Given the description of an element on the screen output the (x, y) to click on. 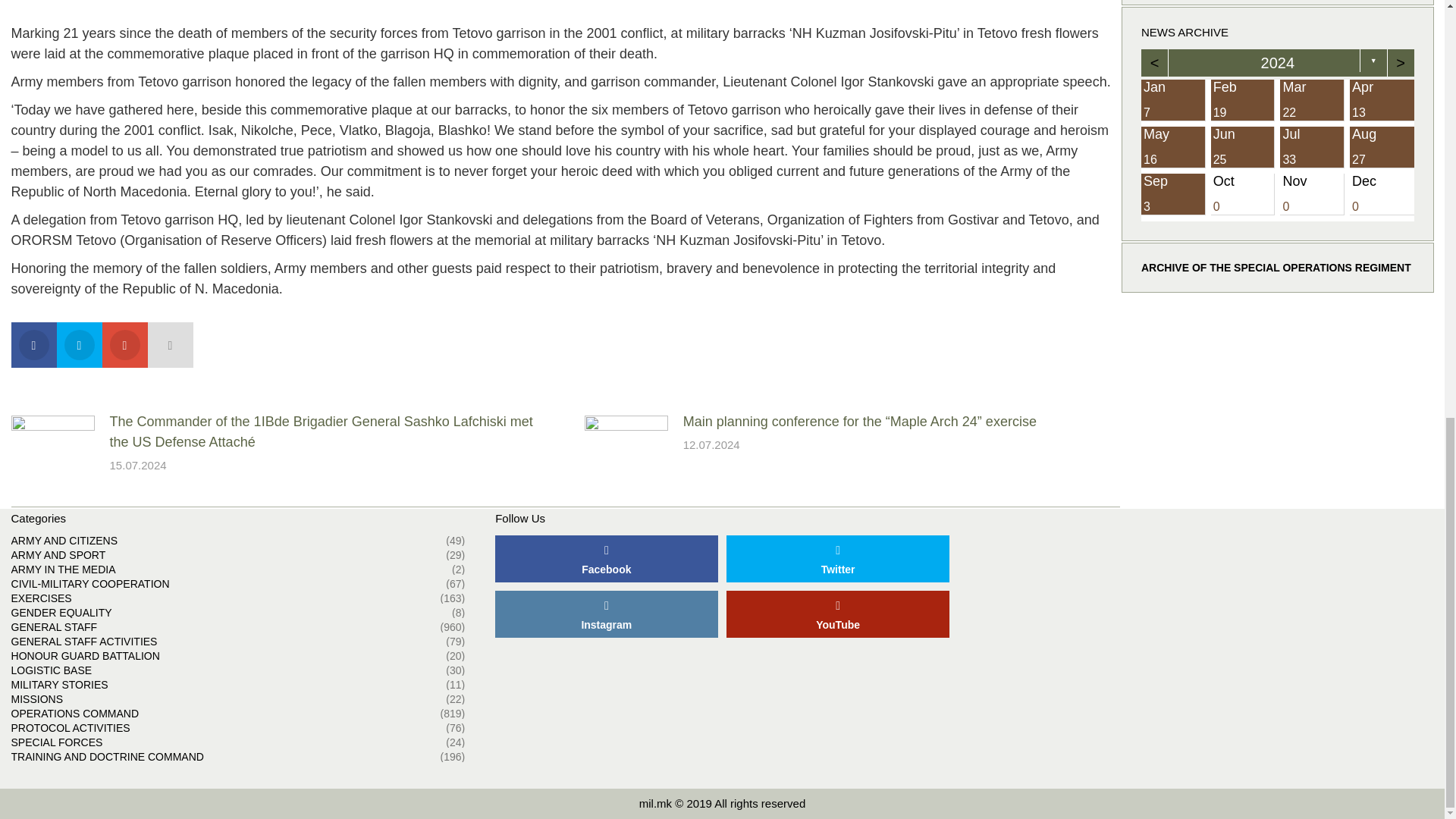
February, 2024 - 19 Posts (1241, 99)
January, 2024 - 7 Posts (1173, 99)
March, 2024 - 22 Posts (1311, 99)
June, 2024 - 25 Posts (1241, 147)
April, 2024 - 13 Posts (1381, 99)
May, 2024 - 16 Posts (1173, 147)
